Given the description of an element on the screen output the (x, y) to click on. 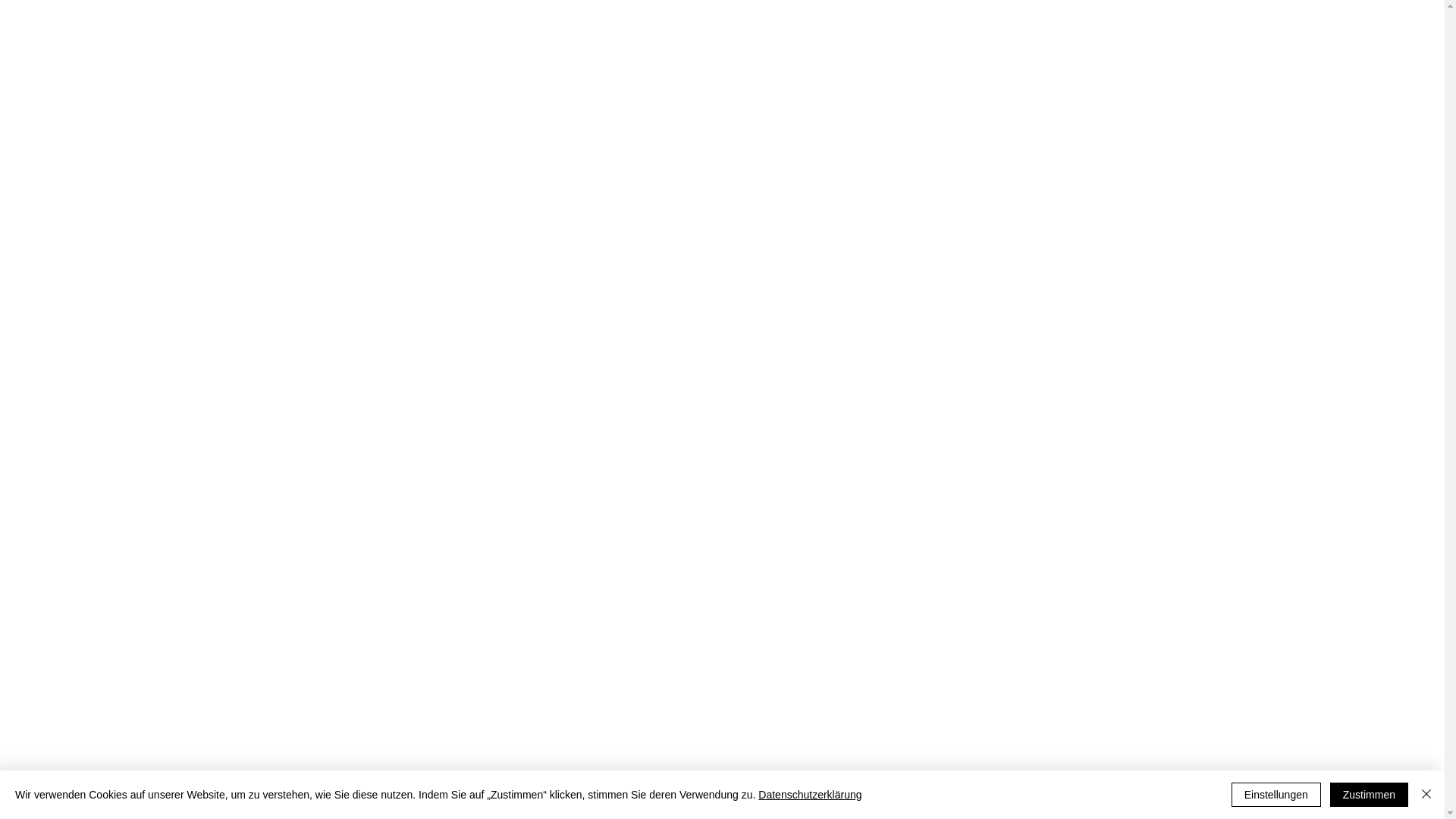
Zustimmen Element type: text (1369, 794)
Einstellungen Element type: text (1276, 794)
